Given the description of an element on the screen output the (x, y) to click on. 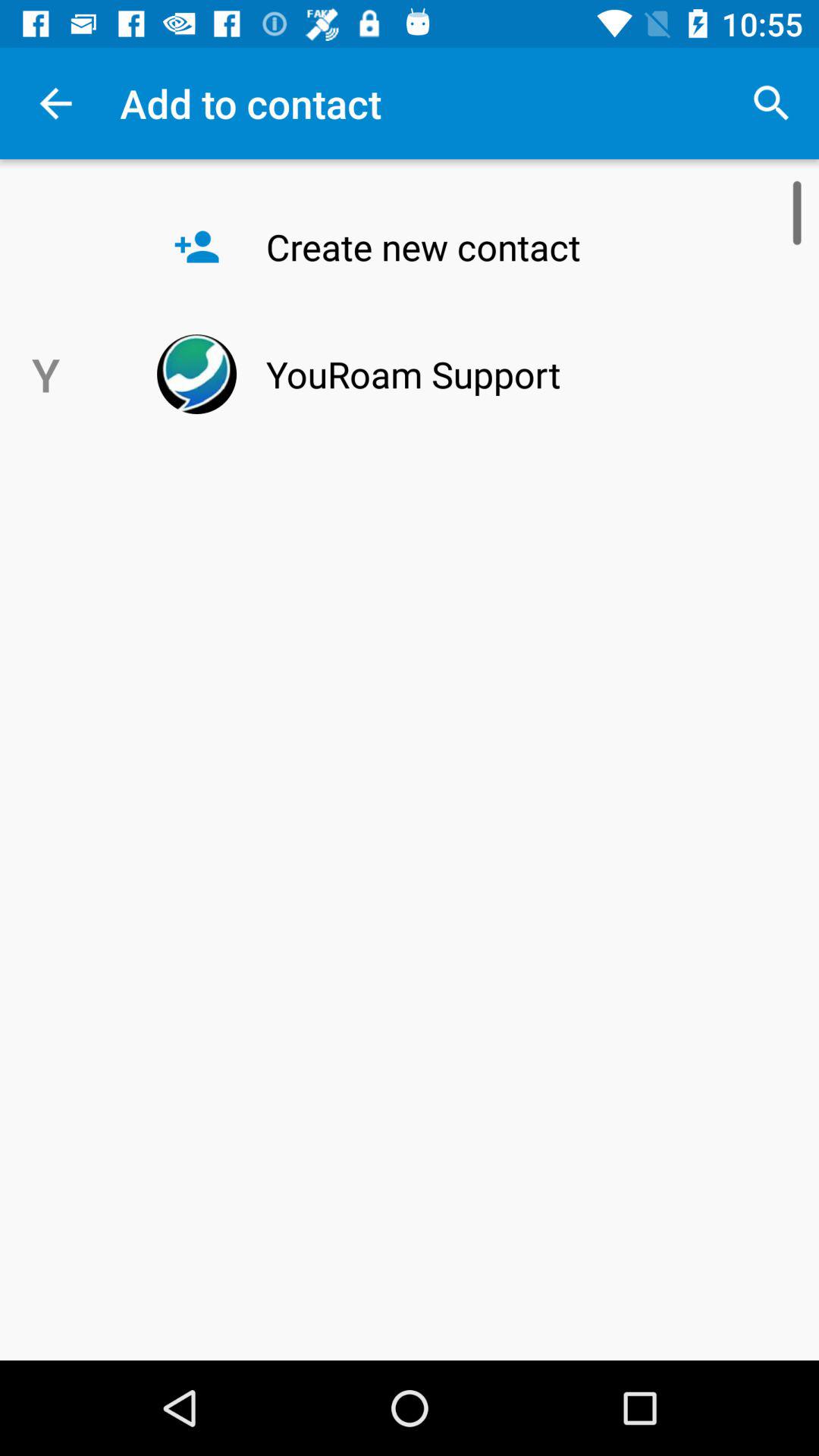
turn on app above the create new contact (771, 103)
